Given the description of an element on the screen output the (x, y) to click on. 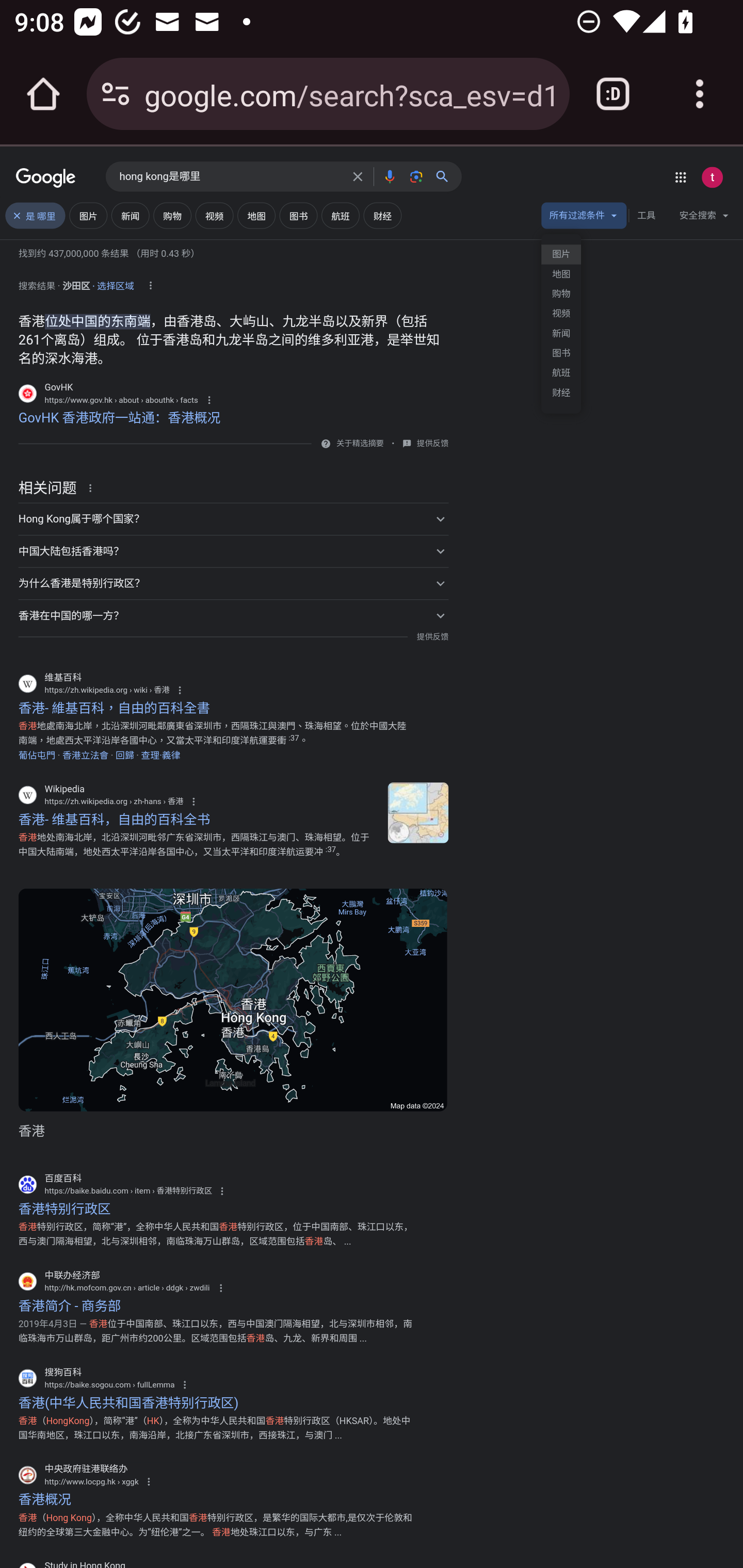
Open the home page (43, 93)
Connection is secure (115, 93)
Switch or close tabs (612, 93)
Customize and control Google Chrome (699, 93)
清除 (357, 176)
按语音搜索 (389, 176)
按图搜索 (415, 176)
搜索 (446, 176)
Google 应用 (680, 176)
Google 账号： test appium (testappium002@gmail.com) (712, 176)
Google (45, 178)
hong kong是哪里 (229, 177)
移除“是 哪里” 是 哪里 (35, 215)
图片 (88, 215)
新闻 (129, 215)
购物 (172, 215)
视频 (214, 215)
地图 (256, 215)
图书 (298, 215)
航班 (339, 215)
财经 (382, 215)
所有过滤条件 (583, 217)
工具 (646, 215)
安全搜索 (703, 217)
图片 (560, 254)
地图 (560, 274)
选择区域 (115, 282)
位置信息使用方式 (149, 285)
购物 (560, 293)
视频 (560, 313)
新闻 (560, 333)
图书 (560, 353)
航班 (560, 373)
财经 (560, 392)
关于精选摘要 (359, 443)
提供反馈 (432, 443)
关于这条结果的详细信息 (93, 486)
Hong Kong属于哪个国家？ (232, 518)
中国大陆包括香港吗？ (232, 550)
为什么香港是特别行政区？ (232, 583)
香港在中国的哪一方？ (232, 614)
提供反馈 (432, 636)
葡佔屯門 (36, 754)
香港立法會 (84, 754)
回歸 (124, 754)
查理·義律 (160, 754)
%E9%A6%99%E6%B8%AF (417, 812)
